Given the description of an element on the screen output the (x, y) to click on. 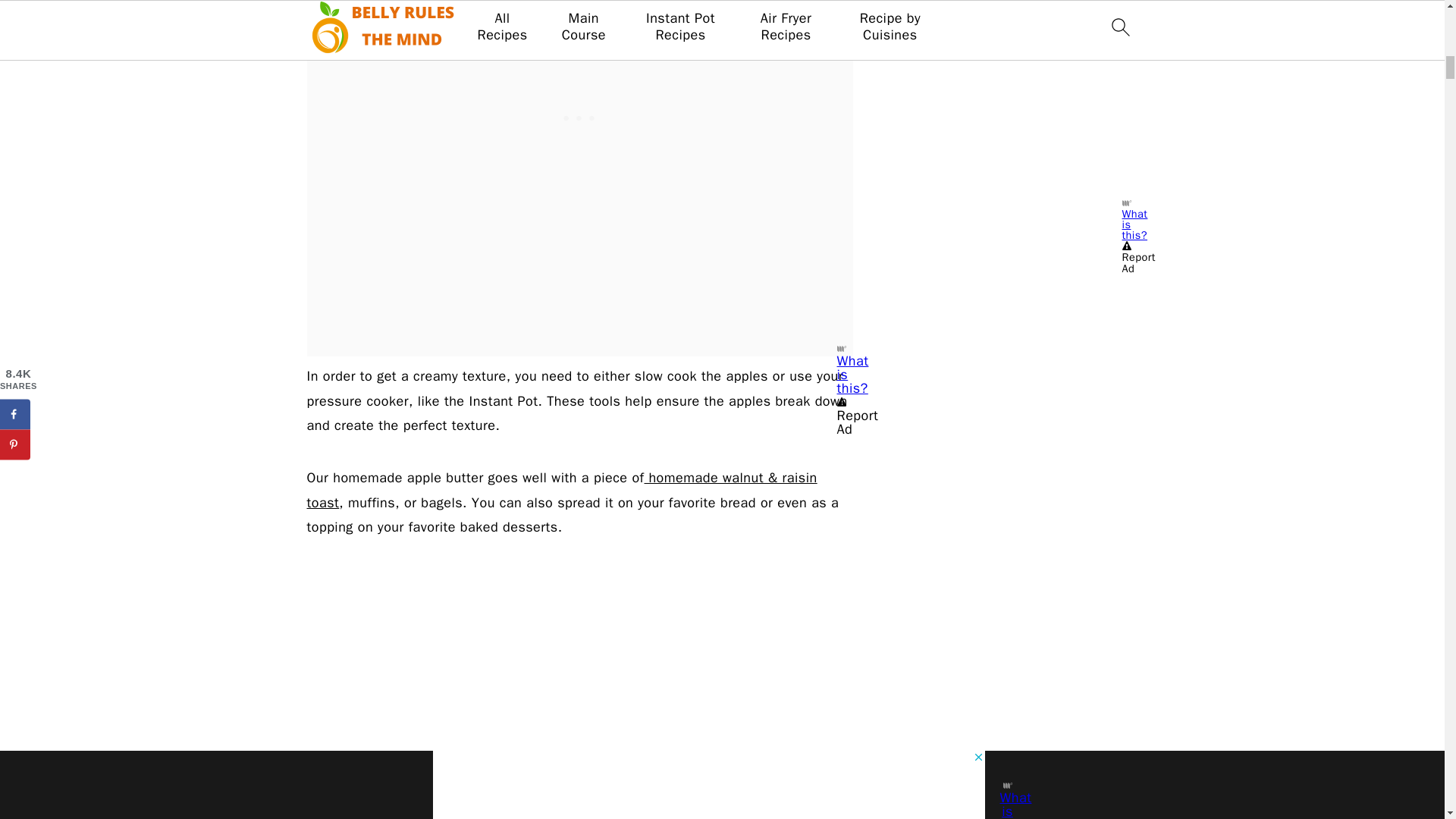
3rd party ad content (579, 117)
